Given the description of an element on the screen output the (x, y) to click on. 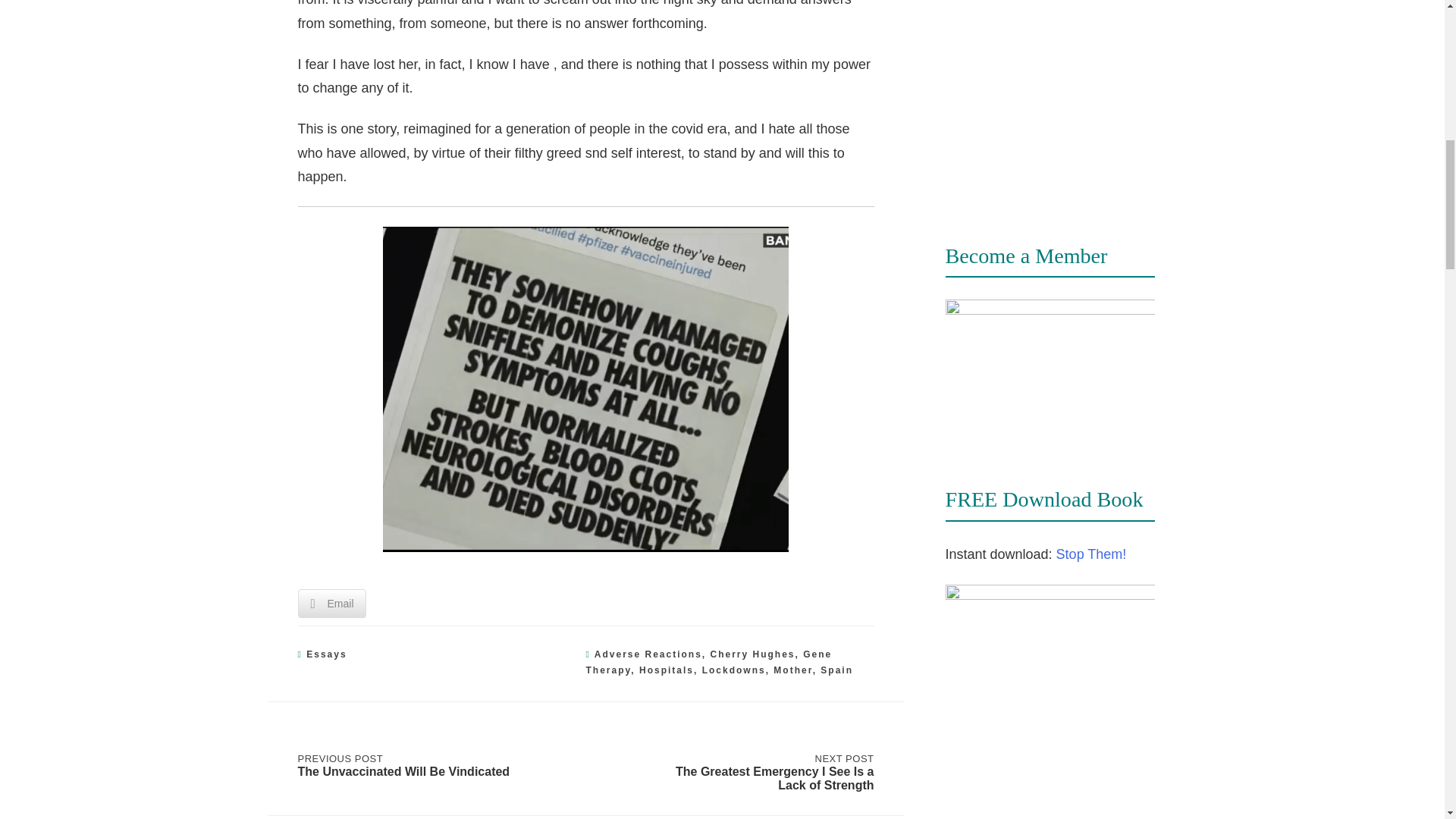
Mother (792, 670)
Hospitals (666, 670)
Stop Them! (1091, 554)
Lockdowns (733, 670)
The Freedom Magazine (1049, 88)
Gene Therapy (708, 662)
Cherry Hughes (752, 654)
Spain (837, 670)
Essays (325, 654)
Email (331, 603)
Adverse Reactions (647, 654)
